Given the description of an element on the screen output the (x, y) to click on. 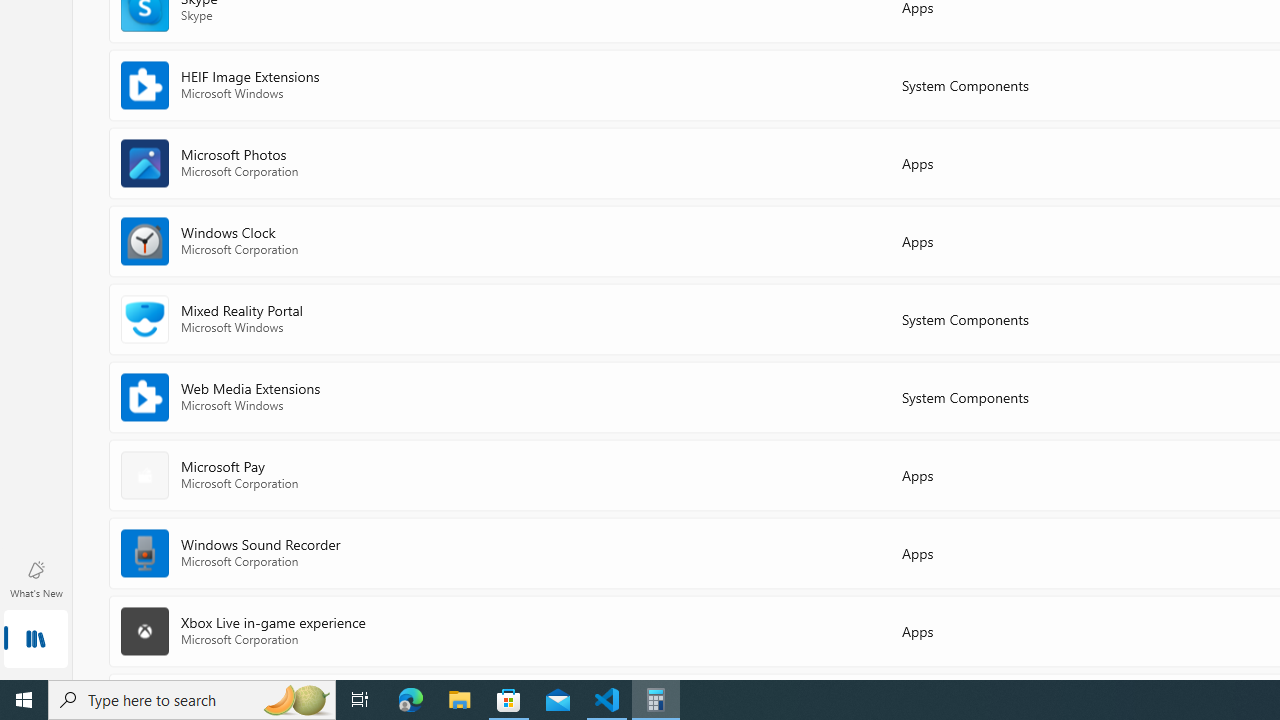
Library (35, 640)
Microsoft Store - 1 running window (509, 699)
Microsoft Edge (411, 699)
What's New (35, 578)
Task View (359, 699)
File Explorer (460, 699)
Visual Studio Code - 1 running window (607, 699)
Search highlights icon opens search home window (295, 699)
Calculator - 1 running window (656, 699)
Start (24, 699)
Type here to search (191, 699)
